Given the description of an element on the screen output the (x, y) to click on. 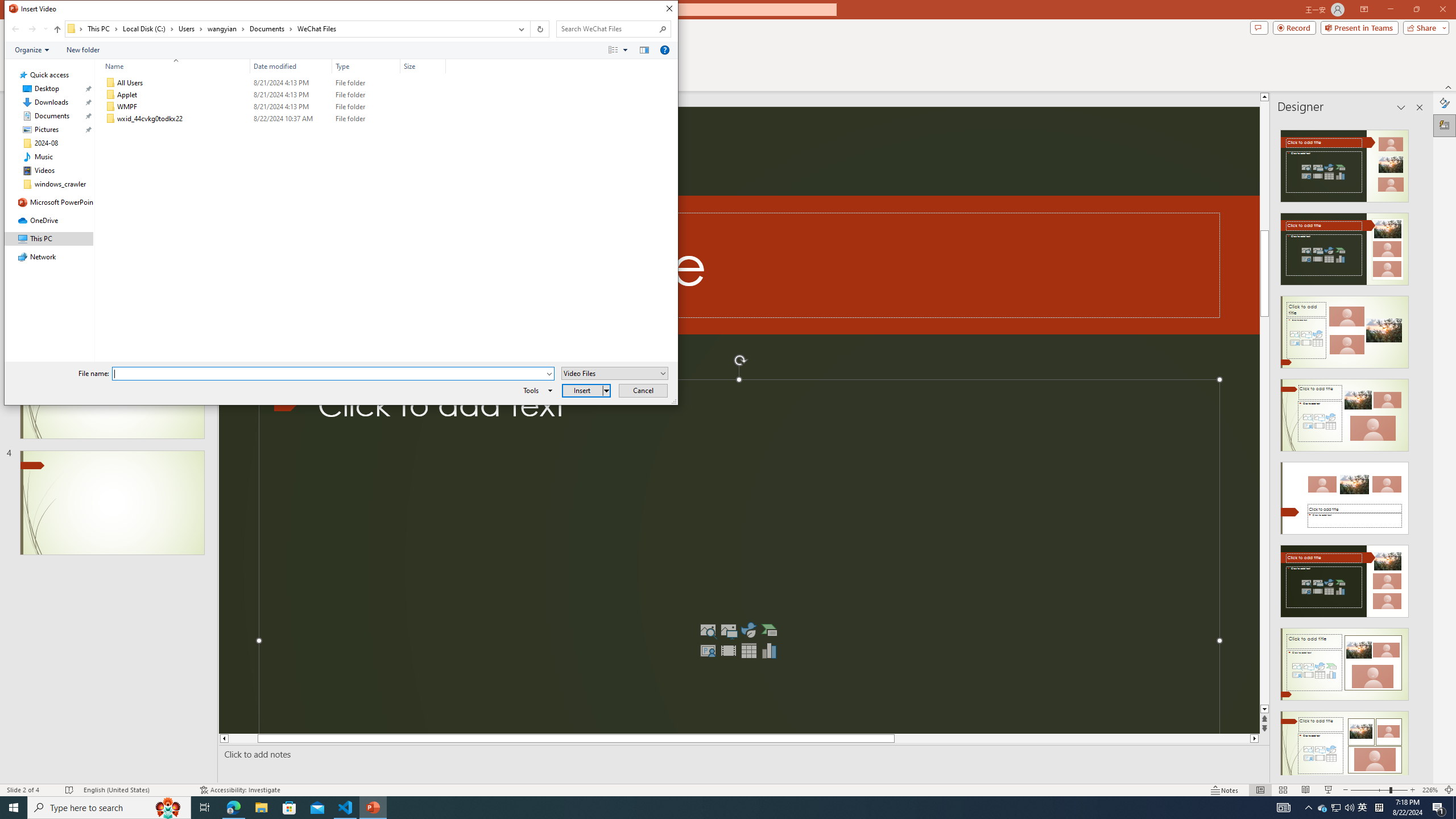
File name: (333, 373)
Type (365, 119)
Command Module (341, 49)
WMPF (273, 106)
Previous Locations (520, 28)
Microsoft Edge - 1 running window (233, 807)
Search Box (607, 28)
Insert Chart (769, 650)
